Given the description of an element on the screen output the (x, y) to click on. 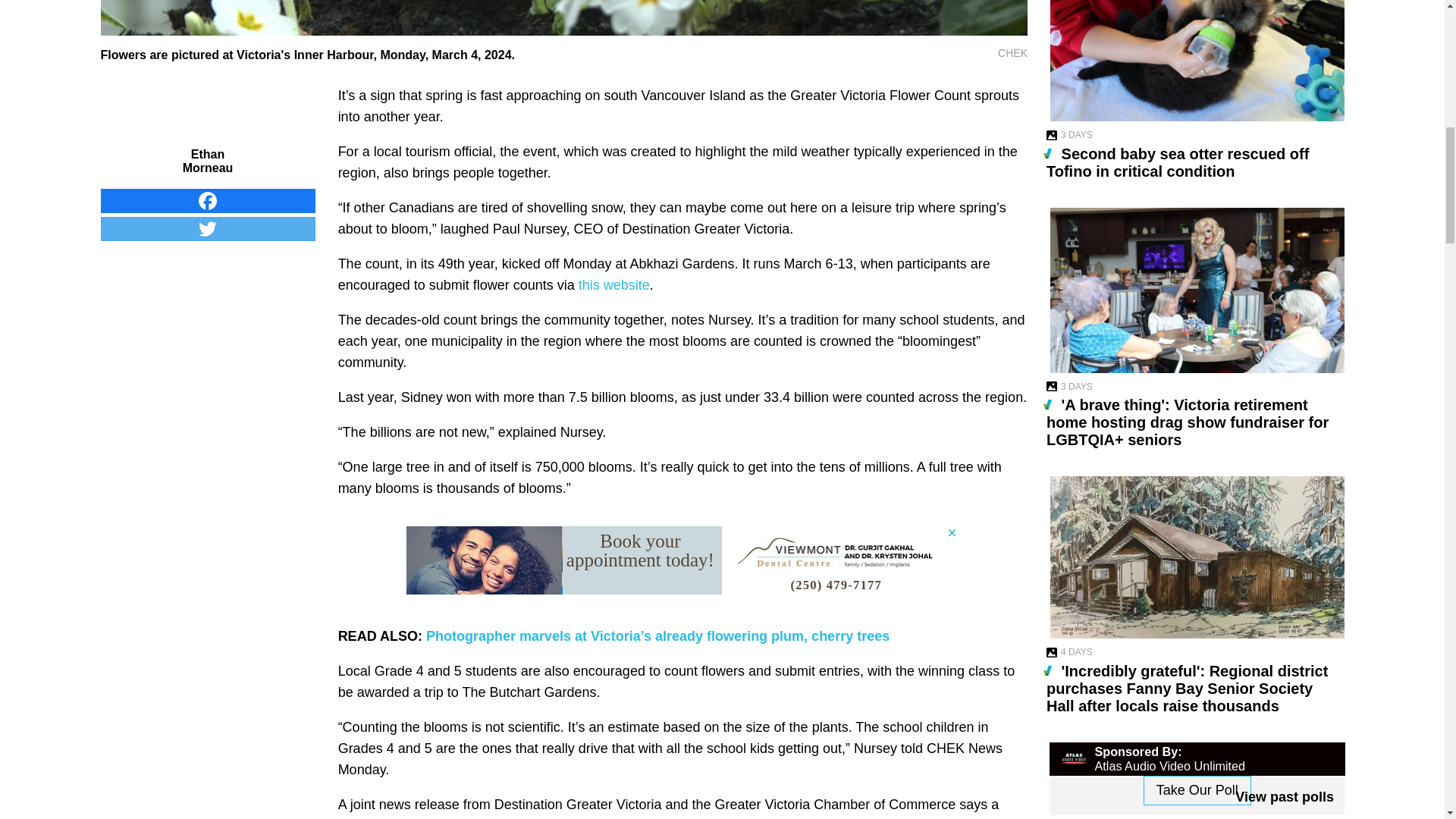
3rd party ad content (682, 560)
Twitter (207, 236)
Facebook (207, 208)
